Given the description of an element on the screen output the (x, y) to click on. 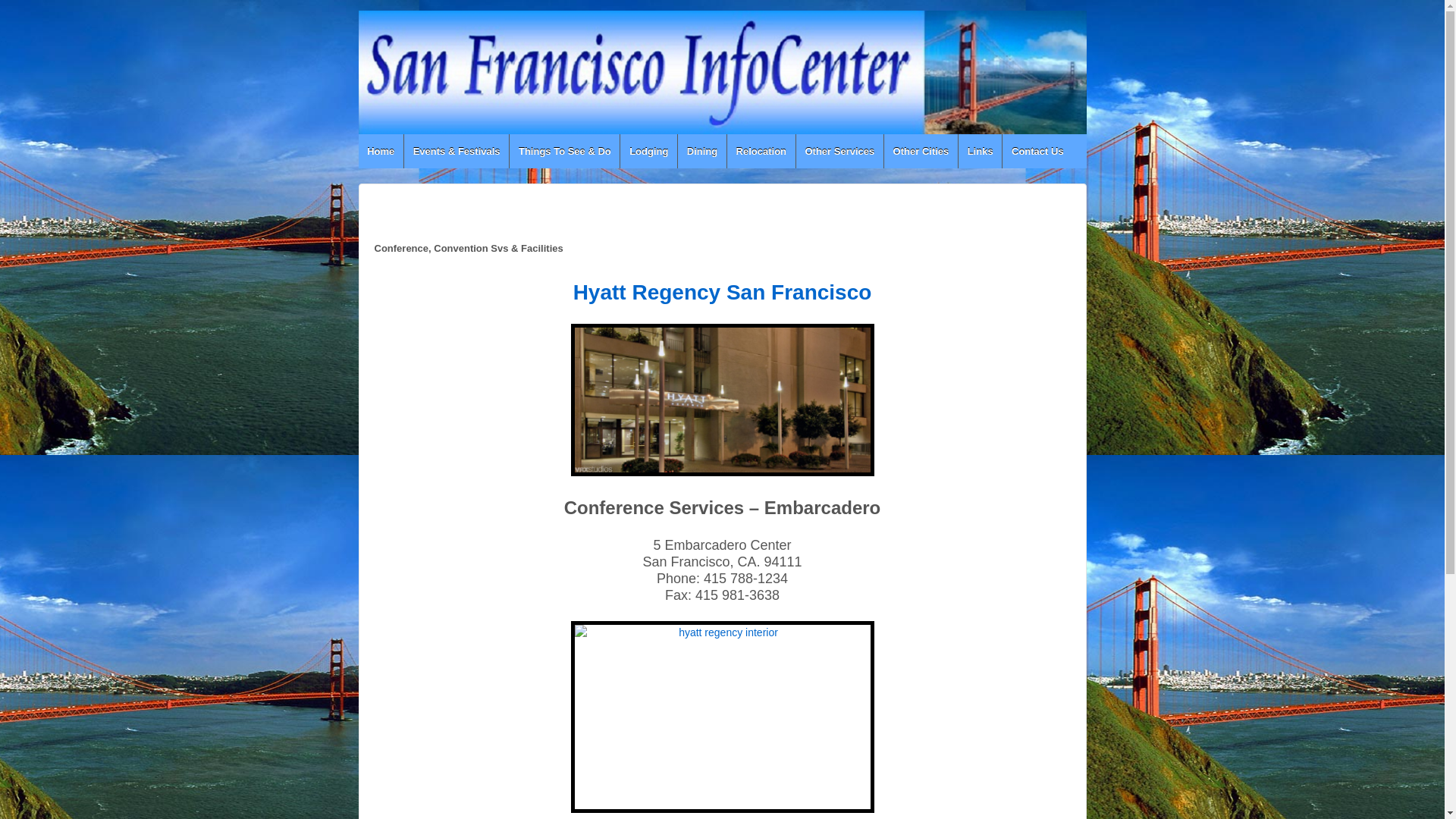
Contact Us (1036, 151)
Other Services (838, 151)
Hyatt Regency San Francisco (722, 289)
Relocation (760, 151)
Dining (701, 151)
Lodging (648, 151)
Links (979, 151)
Other Cities (920, 151)
Home (380, 151)
